Given the description of an element on the screen output the (x, y) to click on. 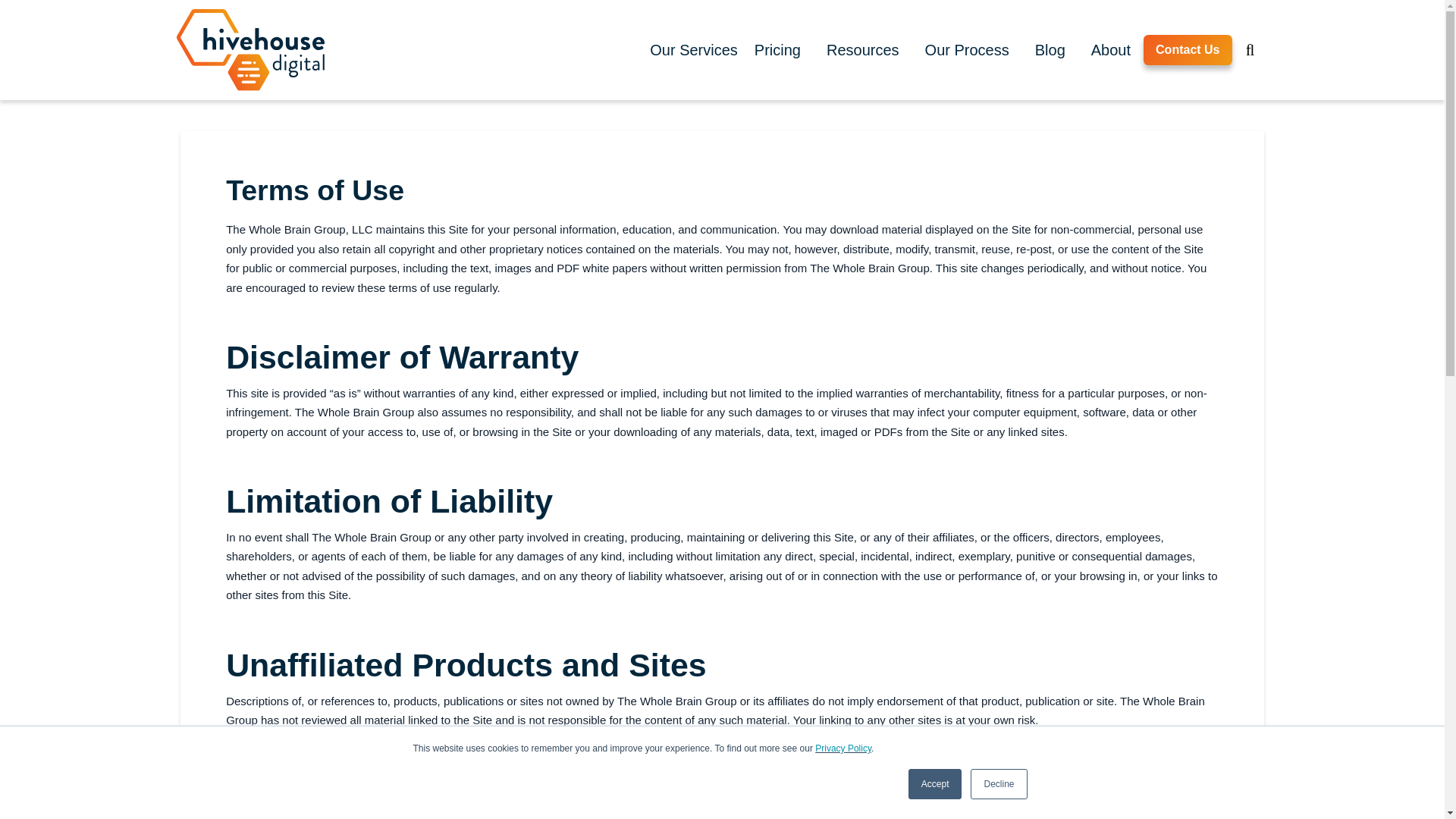
About (1110, 49)
Accept (935, 784)
Contact Us (1186, 49)
Our Process (967, 49)
Privacy Policy (842, 747)
Blog (1050, 49)
Decline (998, 784)
Resources (862, 49)
Pricing (777, 49)
